Given the description of an element on the screen output the (x, y) to click on. 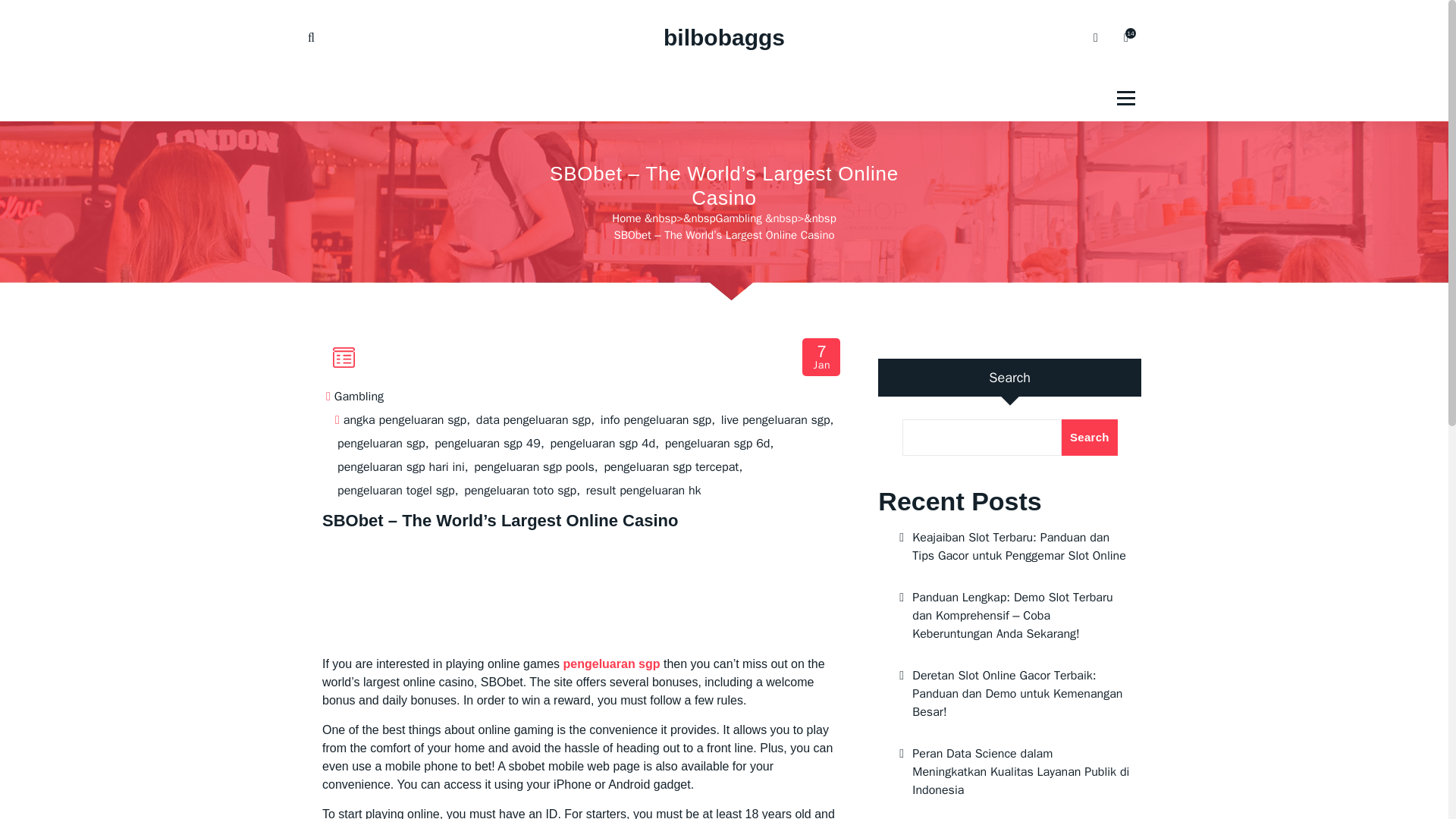
info pengeluaran sgp (655, 420)
pengeluaran sgp 4d (603, 443)
pengeluaran sgp (612, 663)
Gambling (738, 218)
bilbobaggs (723, 37)
1476 (1125, 37)
pengeluaran sgp 6d (717, 443)
pengeluaran sgp (381, 443)
live pengeluaran sgp (774, 420)
Home (625, 218)
angka pengeluaran sgp (404, 420)
Gambling (359, 396)
pengeluaran sgp pools (534, 467)
